Given the description of an element on the screen output the (x, y) to click on. 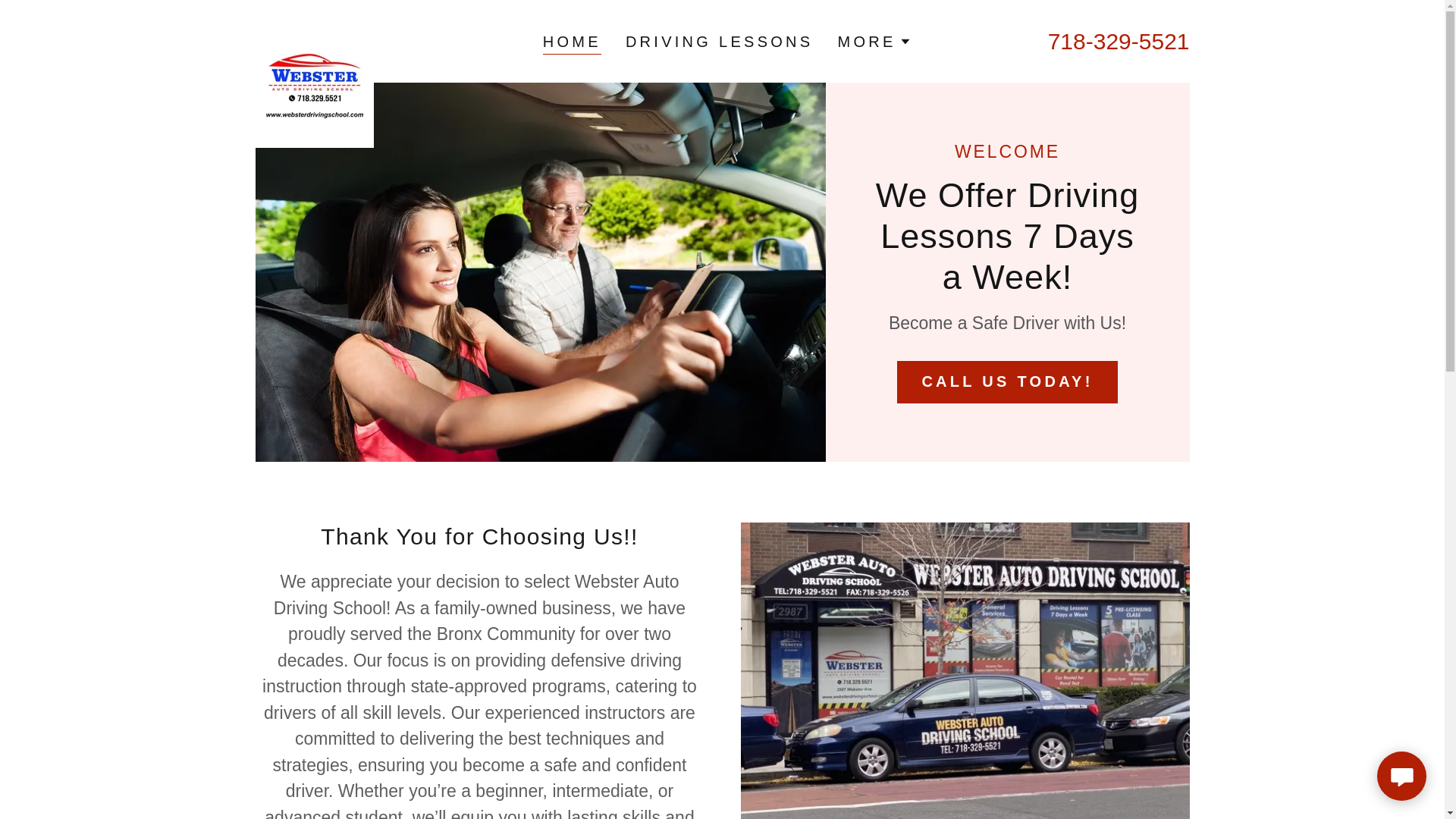
718-329-5521 (1118, 41)
DRIVING LESSONS (719, 40)
CALL US TODAY! (1006, 382)
HOME (572, 42)
MORE (874, 40)
Webster Auto Driving School  (313, 37)
